Given the description of an element on the screen output the (x, y) to click on. 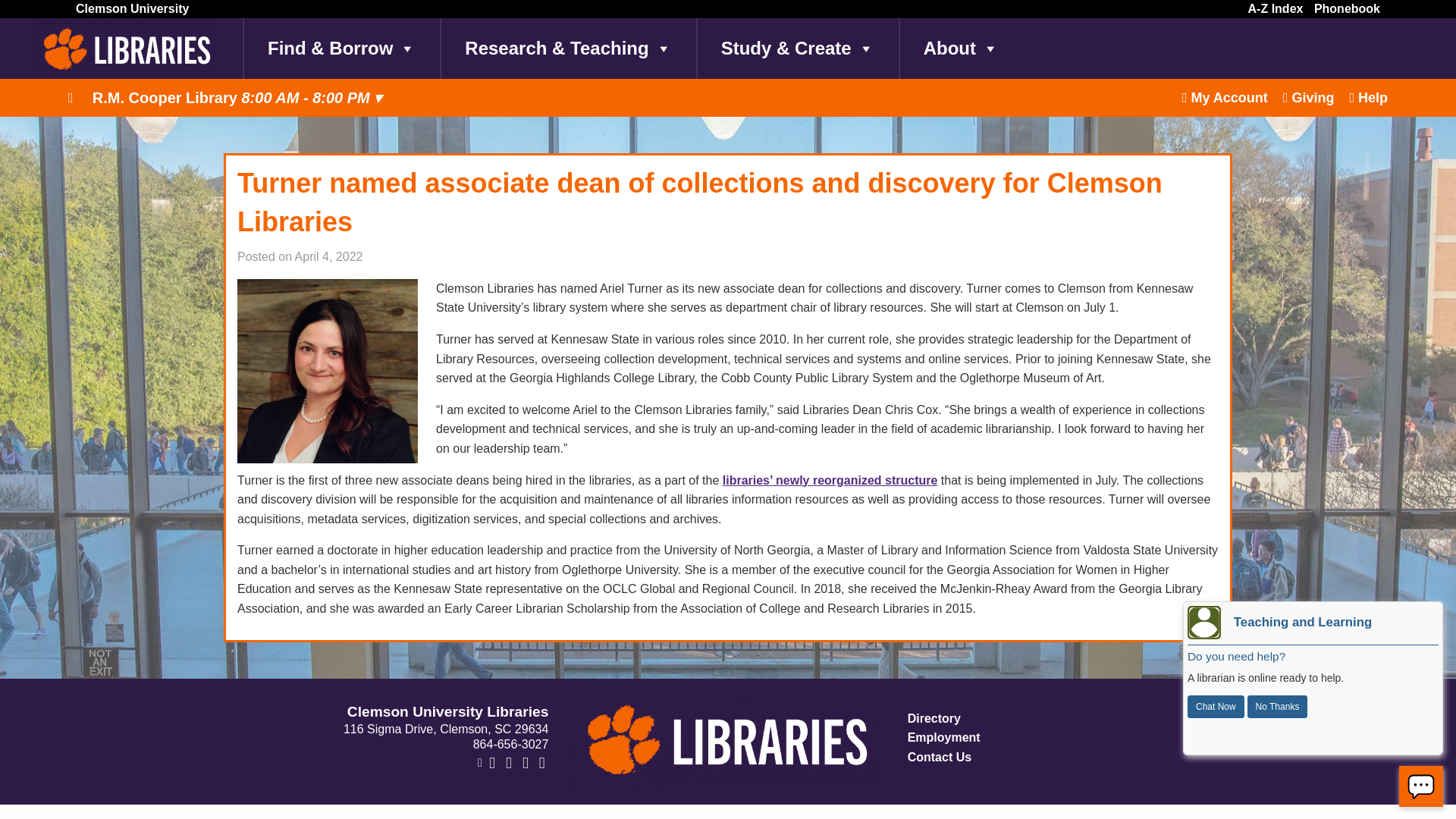
Phonebook (1347, 8)
Chat Widget (1312, 678)
Clemson University (131, 8)
A-Z Index (1275, 8)
Ask Us (1420, 786)
